Given the description of an element on the screen output the (x, y) to click on. 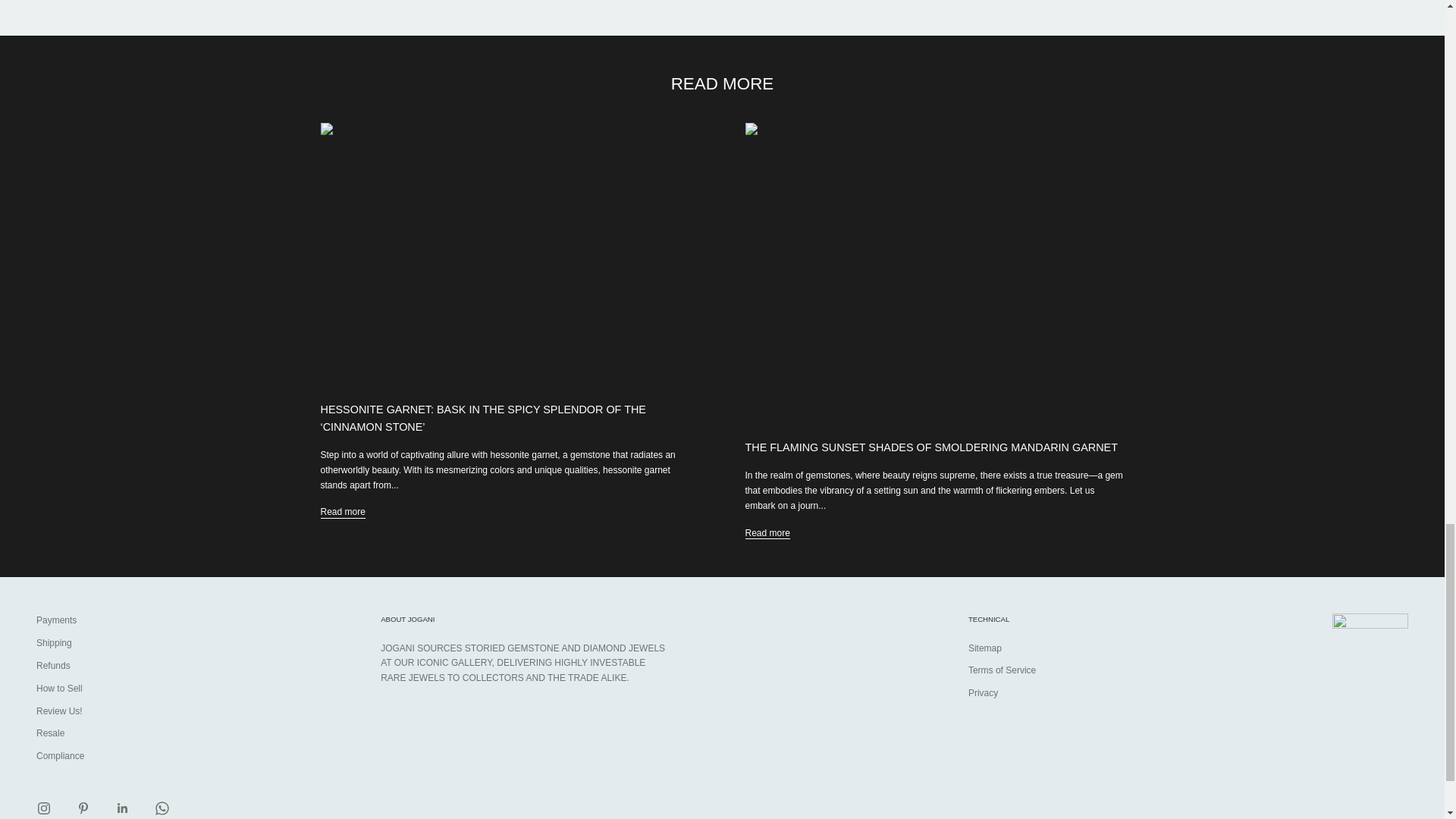
Read more (342, 512)
Terms of Service (1001, 670)
How to Sell (59, 688)
Read more (766, 533)
Refunds (52, 665)
THE FLAMING SUNSET SHADES OF SMOLDERING MANDARIN GARNET (930, 447)
Compliance (60, 756)
Privacy (982, 692)
Resale (50, 733)
Shipping (53, 643)
